Given the description of an element on the screen output the (x, y) to click on. 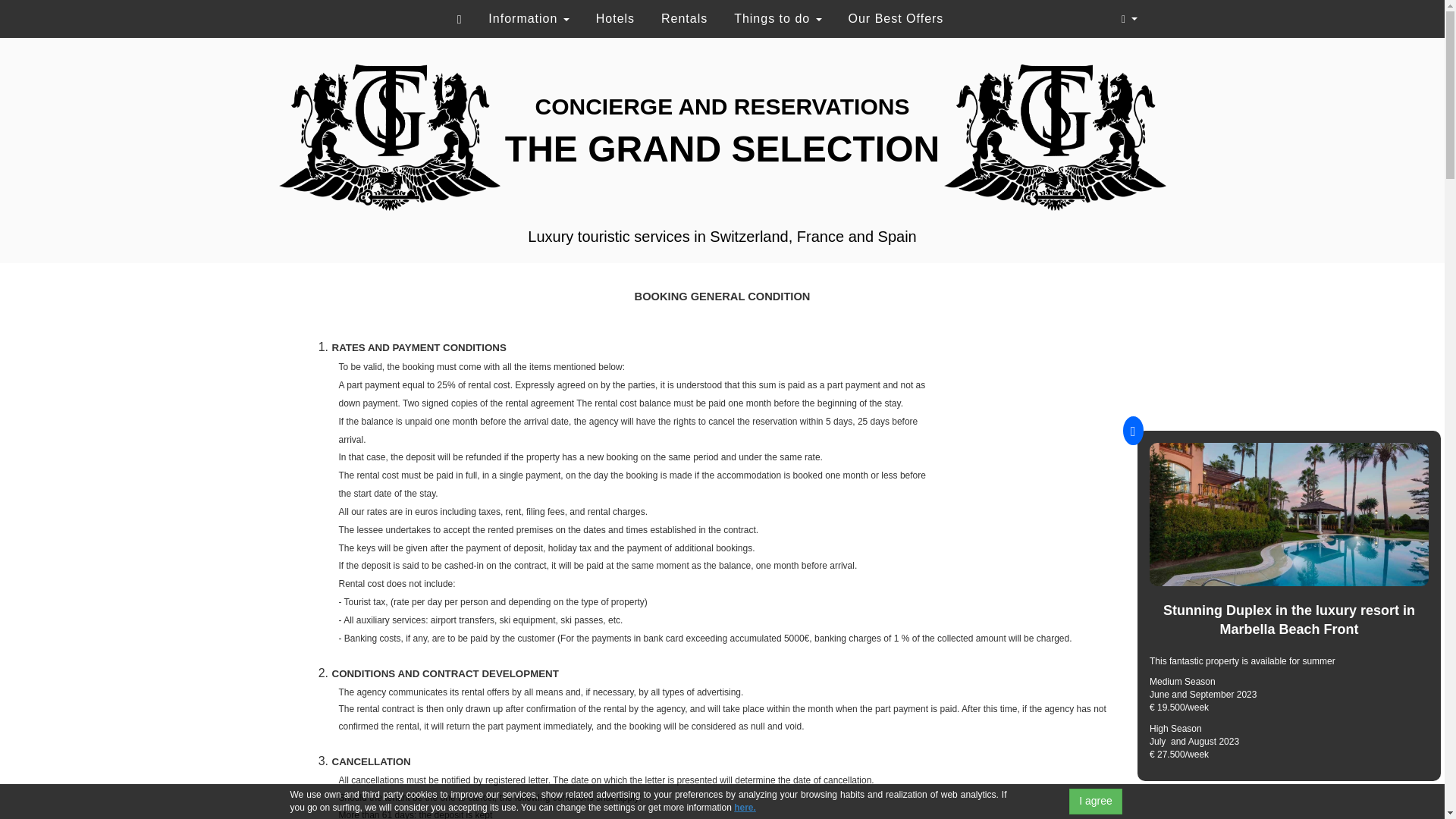
Our Best Offers (896, 18)
Rentals (684, 18)
Things to do (777, 18)
Information (528, 18)
Information (528, 18)
Stunning Duplex in the luxury resort in Marbella Beach Front (1288, 620)
Things to do (777, 18)
Hotels (615, 18)
Our Best Offers (896, 18)
Hotels (615, 18)
